Given the description of an element on the screen output the (x, y) to click on. 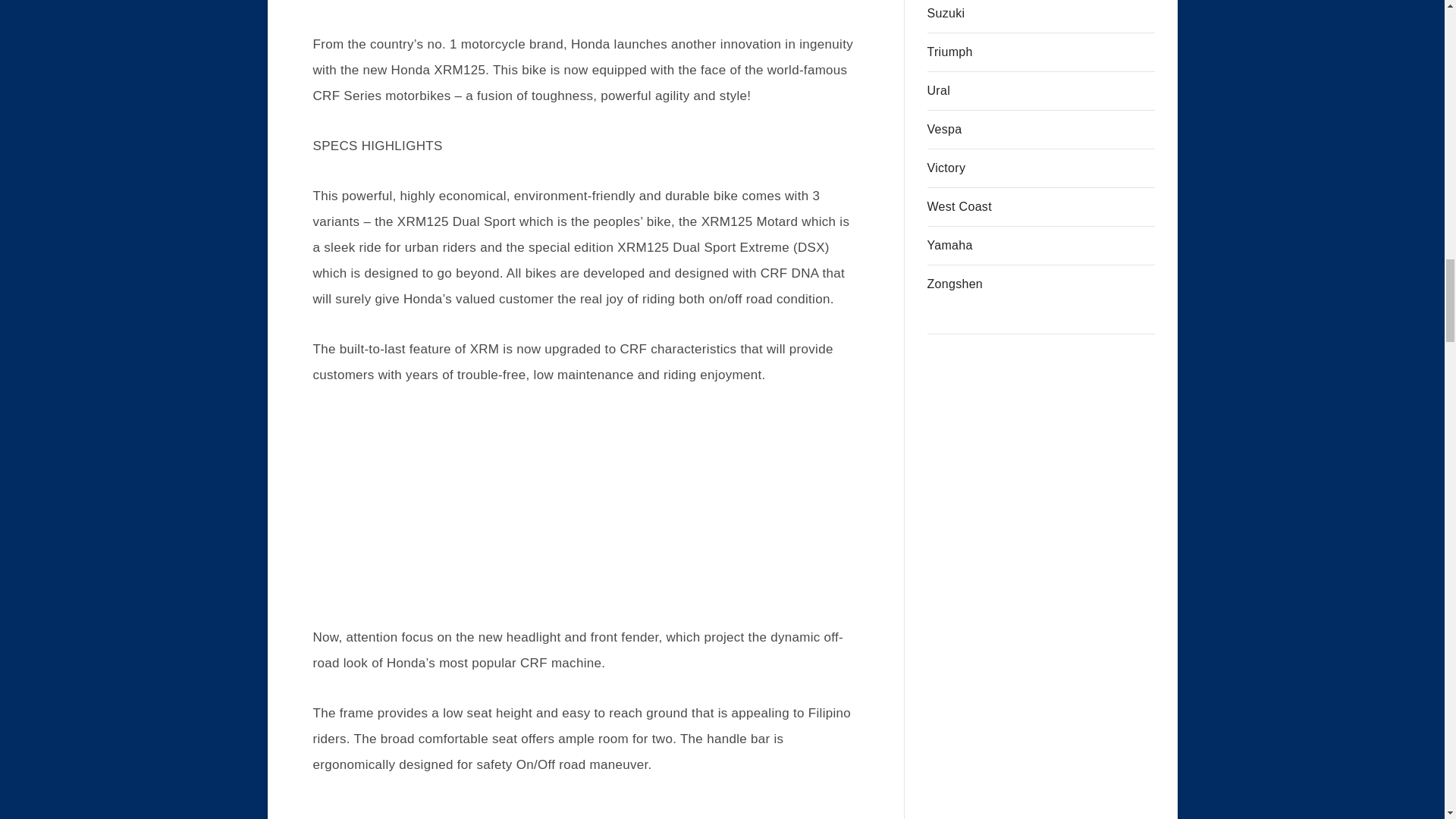
Advertisement (585, 515)
